Given the description of an element on the screen output the (x, y) to click on. 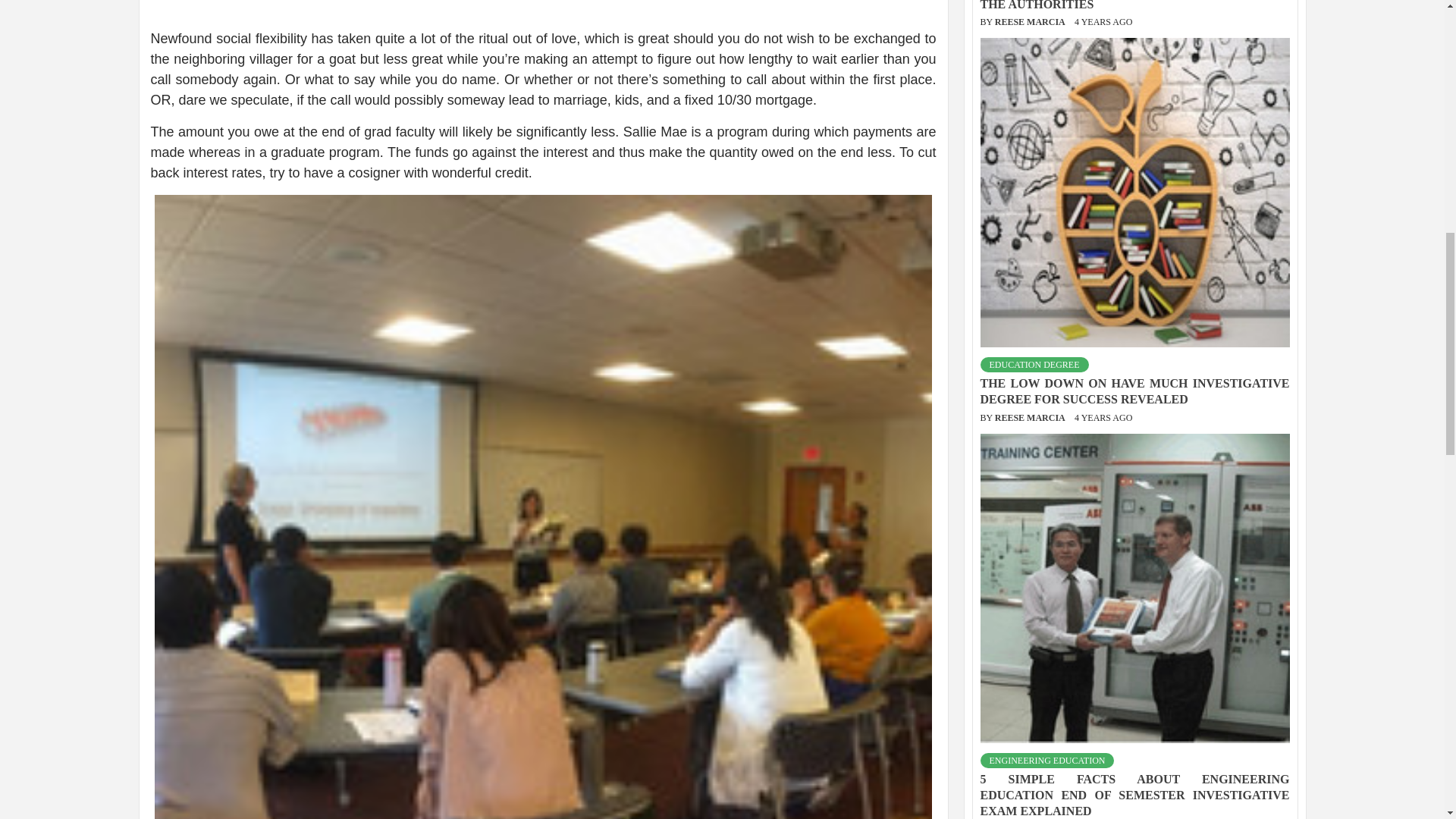
EDUCATION DEGREE (1033, 287)
REESE MARCIA (1030, 340)
ENGINEERING EDUCATION (1046, 683)
REESE MARCIA (1030, 751)
